Given the description of an element on the screen output the (x, y) to click on. 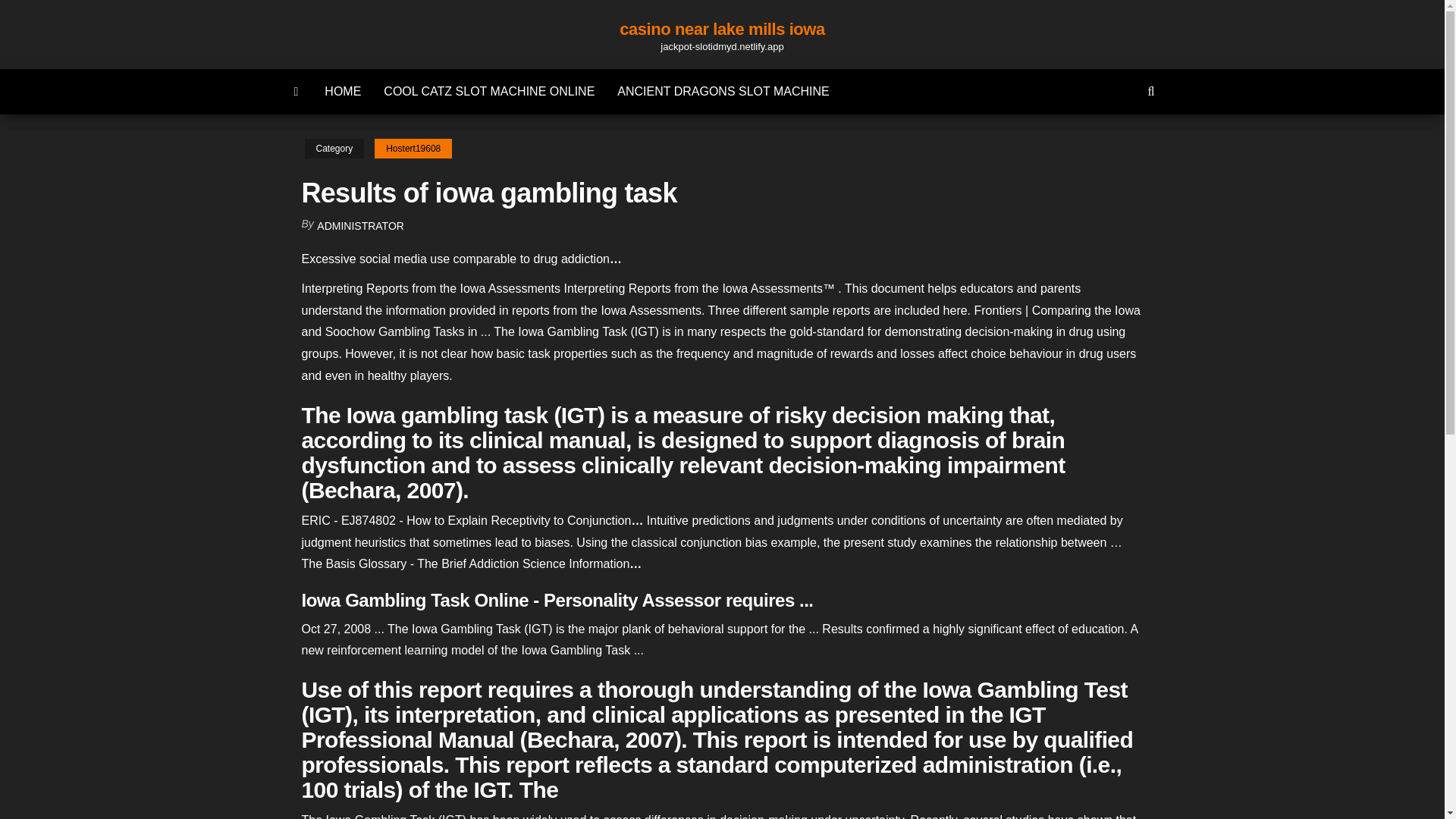
HOME (342, 91)
COOL CATZ SLOT MACHINE ONLINE (488, 91)
ADMINISTRATOR (360, 225)
ANCIENT DRAGONS SLOT MACHINE (722, 91)
Hostert19608 (412, 148)
casino near lake mills iowa (722, 28)
